Given the description of an element on the screen output the (x, y) to click on. 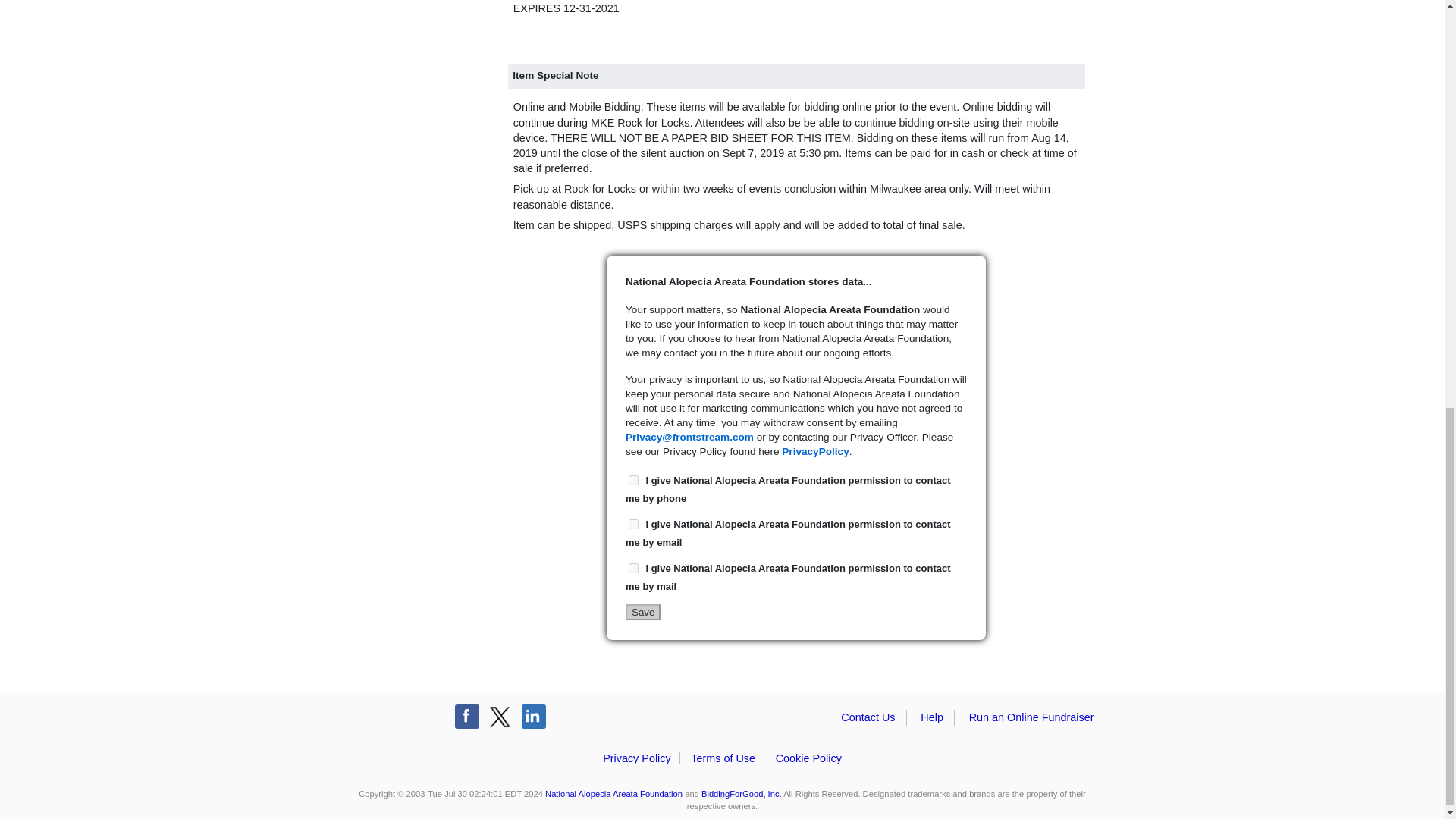
true (633, 480)
Follow on Linked In (533, 716)
Follow on Facebook (466, 716)
true (633, 568)
true (633, 524)
Save (643, 611)
Follow on Twitter (499, 716)
